Given the description of an element on the screen output the (x, y) to click on. 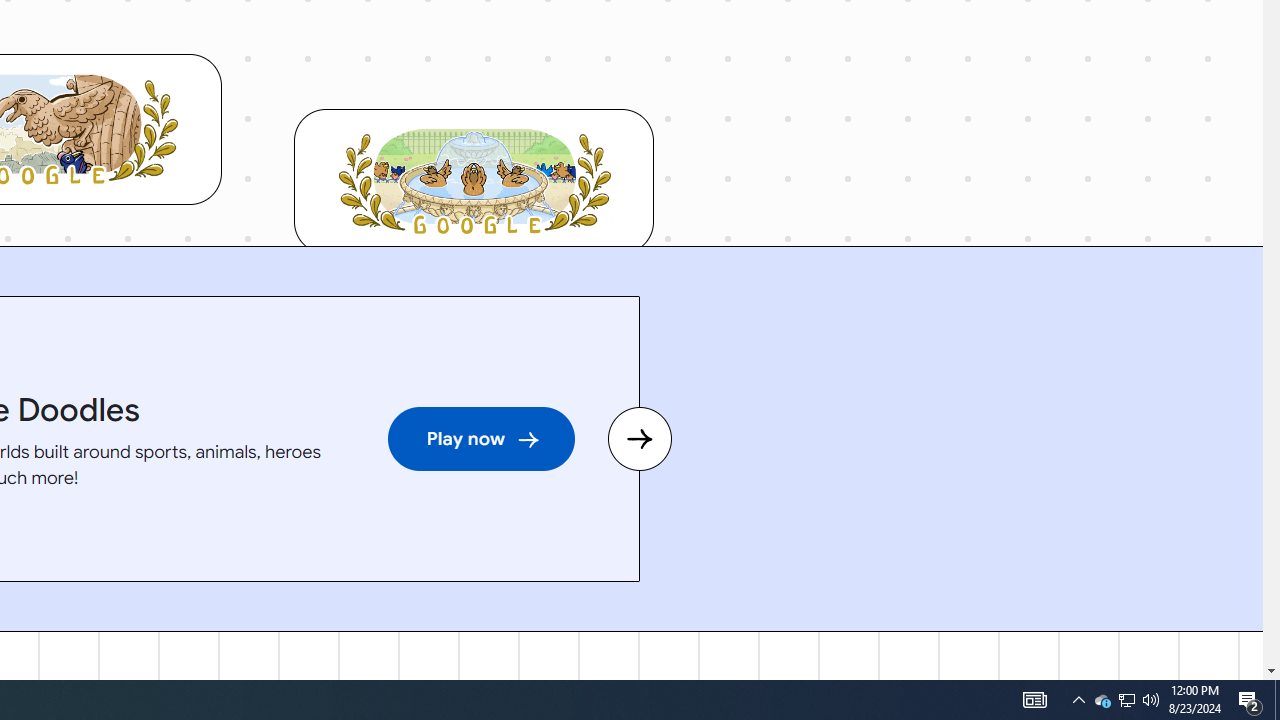
Play now (480, 439)
Next slide (639, 439)
